Given the description of an element on the screen output the (x, y) to click on. 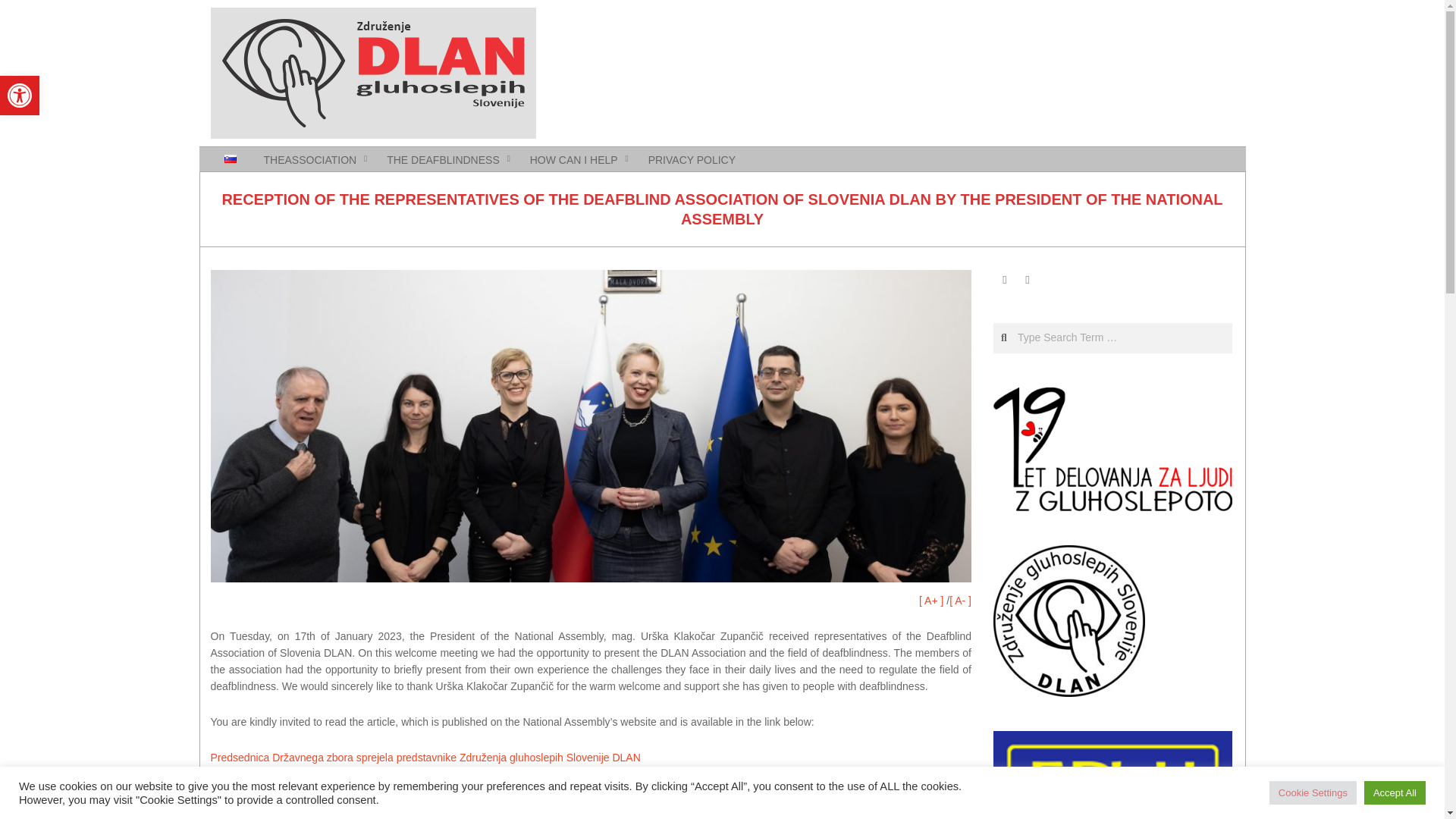
PRIVACY POLICY (691, 159)
THE DEAFBLINDNESS (444, 159)
Prilagoditev kontrasta (19, 95)
HOW CAN I HELP (575, 159)
Prilagoditev kontrasta (19, 95)
THEASSOCIATION (19, 95)
zig (312, 159)
